Given the description of an element on the screen output the (x, y) to click on. 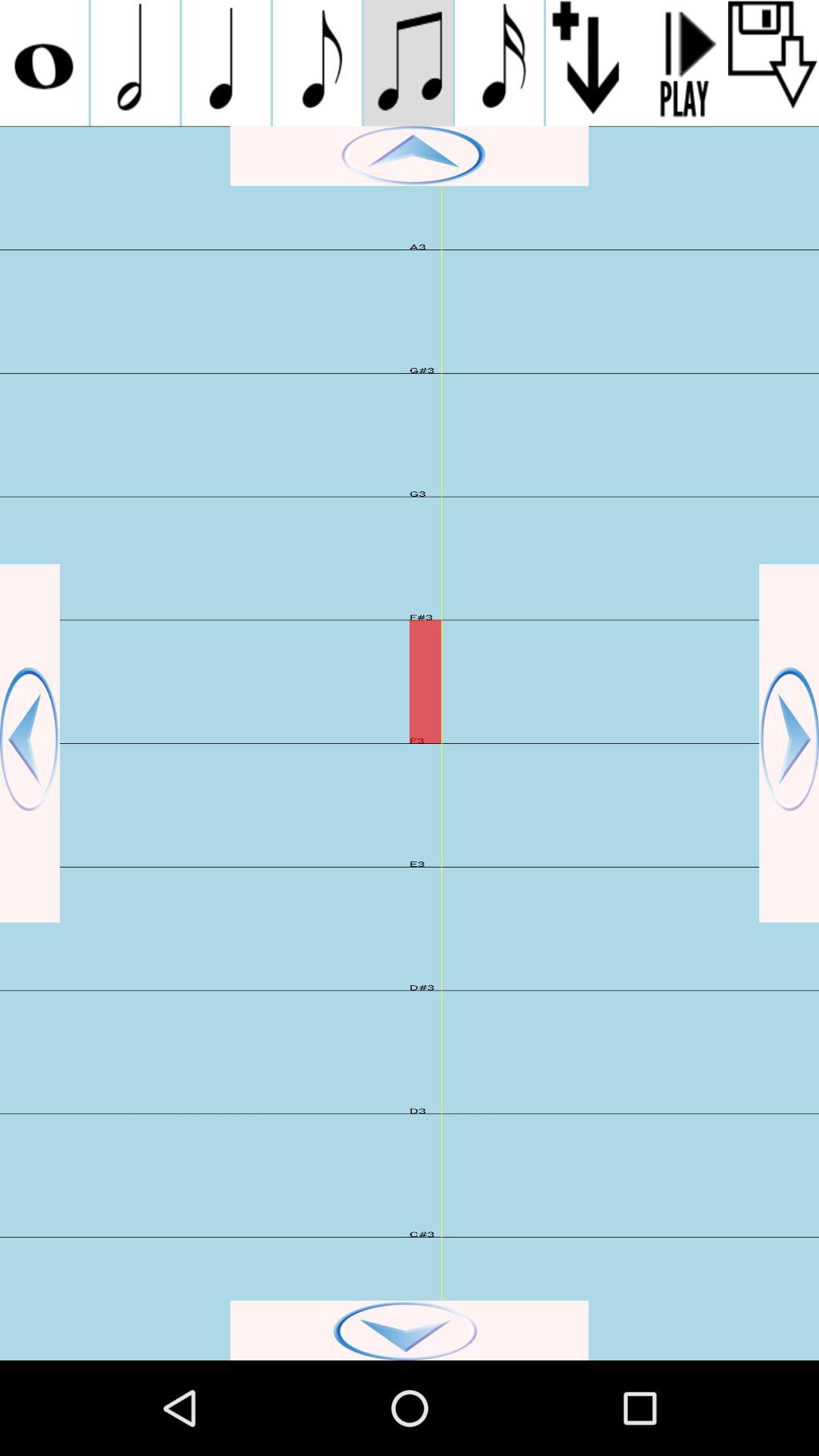
scroll up (409, 155)
